Given the description of an element on the screen output the (x, y) to click on. 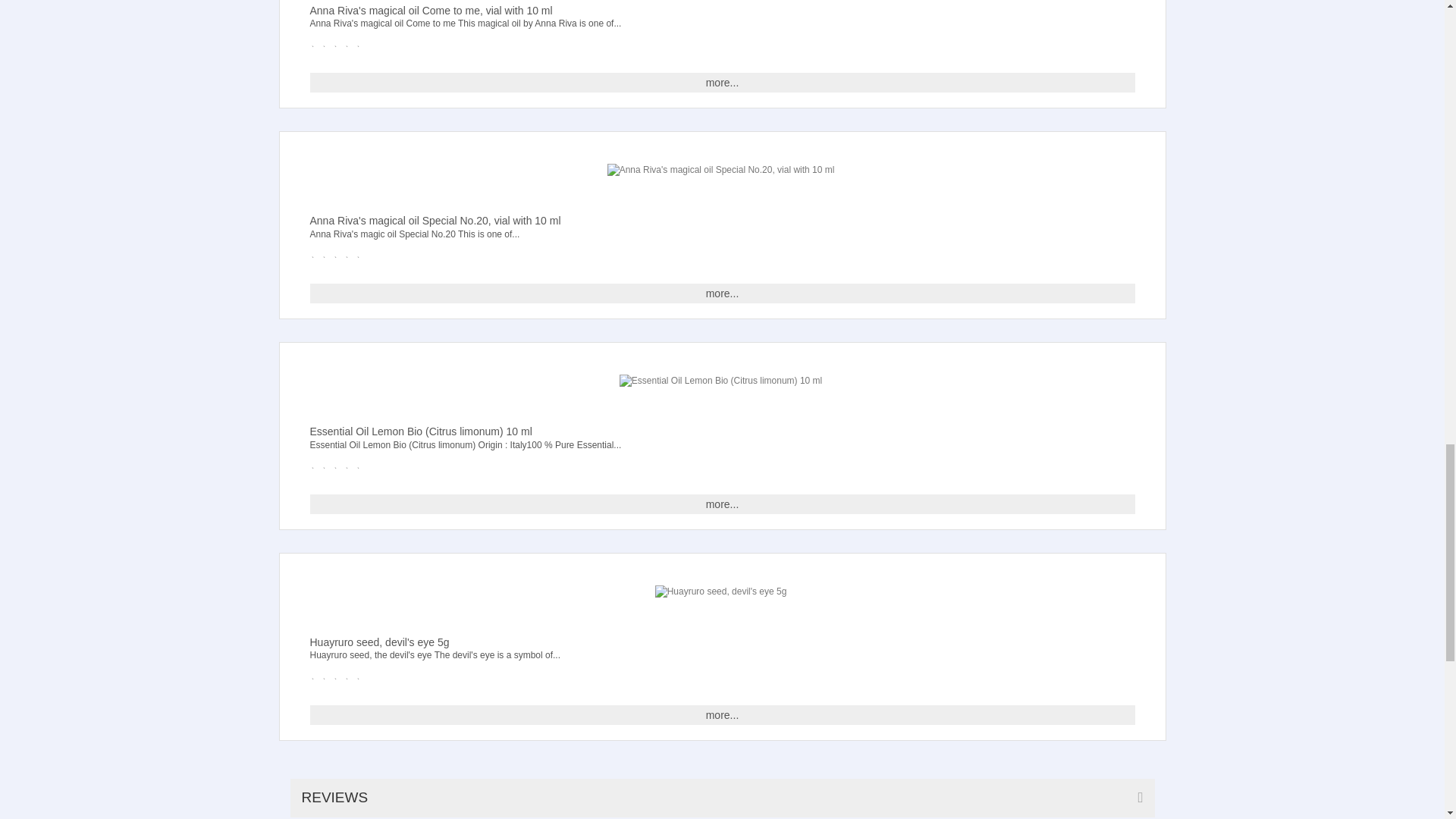
Anna Riva's magical oil Special No.20, vial with 10 ml (720, 169)
Huayruro seed, devil's eye 5g (721, 591)
